Given the description of an element on the screen output the (x, y) to click on. 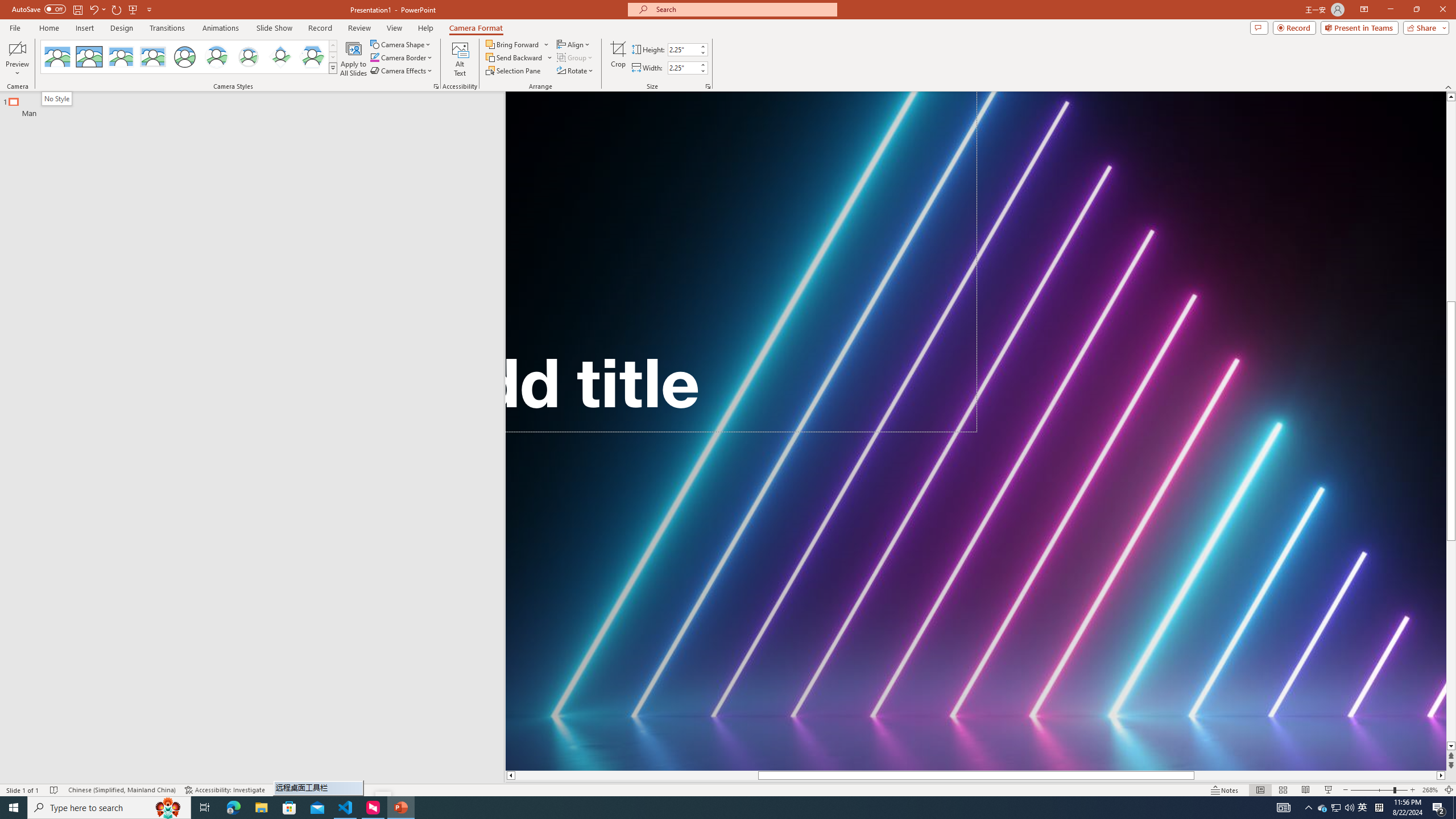
Less (702, 70)
Outline (256, 104)
Alt Text (459, 58)
Simple Frame Rectangle (88, 56)
Rotate (575, 69)
